Given the description of an element on the screen output the (x, y) to click on. 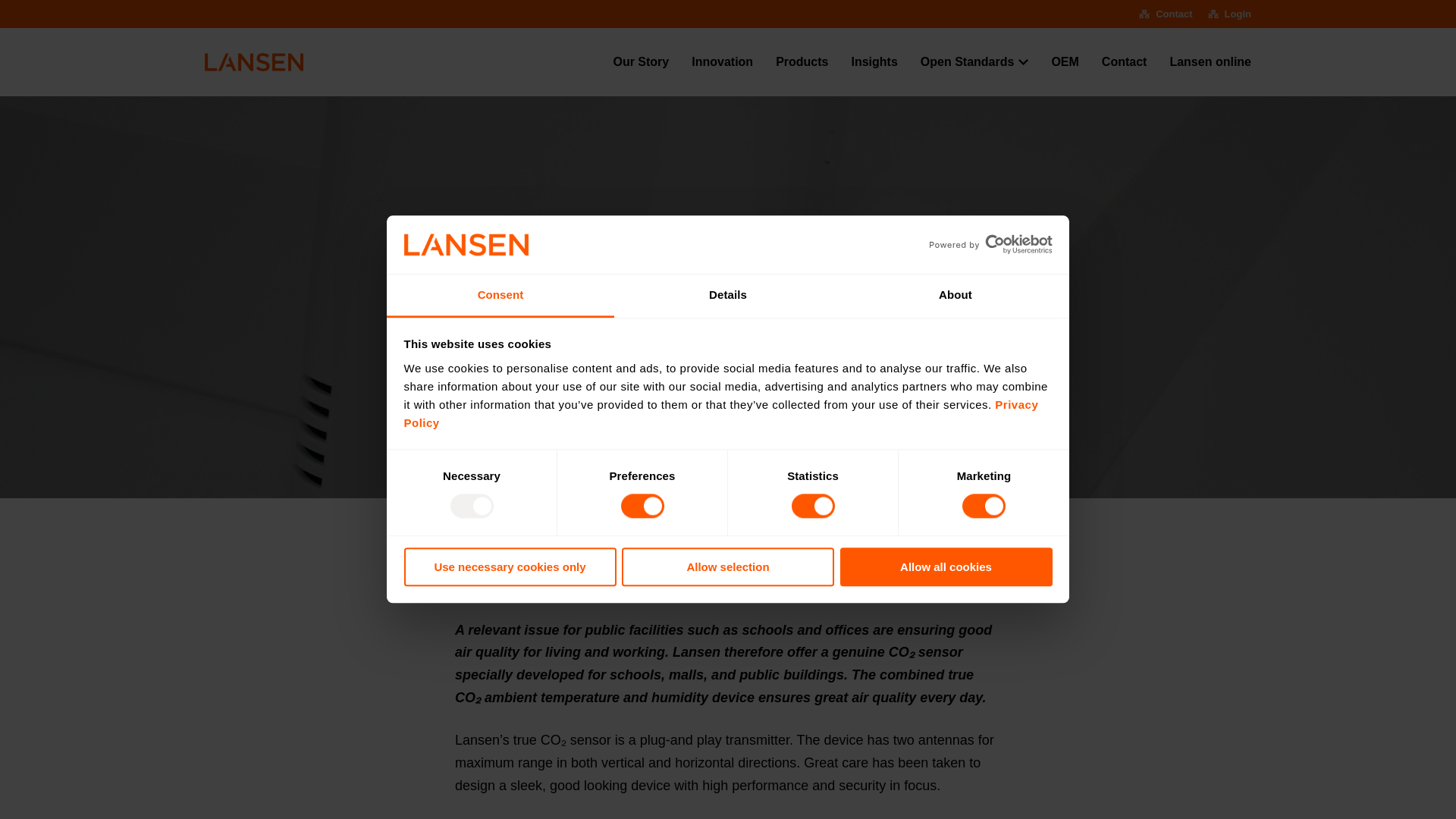
Consent (500, 295)
Allow all cookies (946, 566)
Use necessary cookies only (509, 566)
Privacy Policy (720, 413)
Lansen (253, 62)
About (954, 295)
Details (727, 295)
Allow selection (727, 566)
